Given the description of an element on the screen output the (x, y) to click on. 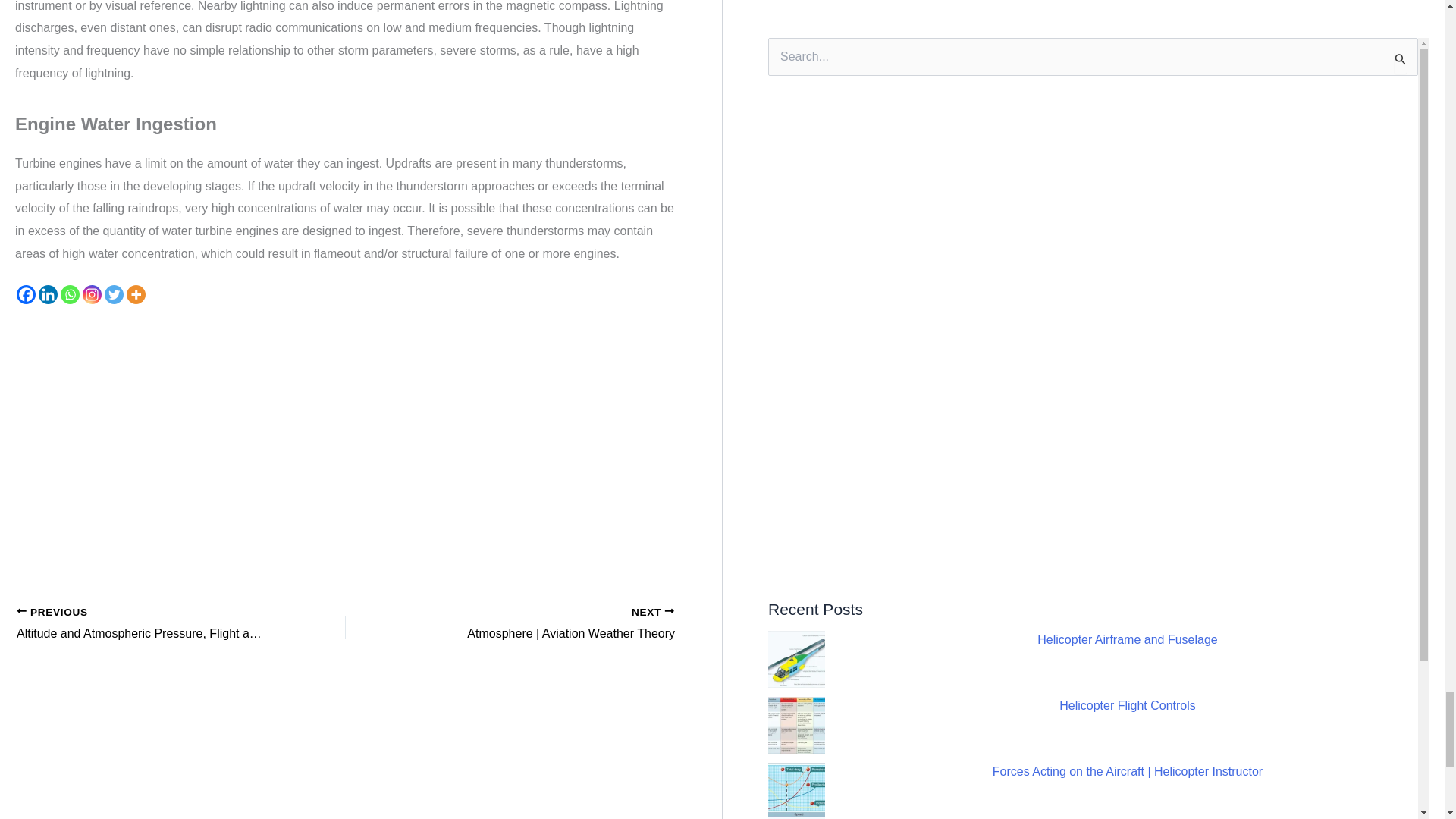
Twitter (113, 294)
Whatsapp (70, 294)
Linkedin (48, 294)
Facebook (25, 294)
Instagram (91, 294)
